Given the description of an element on the screen output the (x, y) to click on. 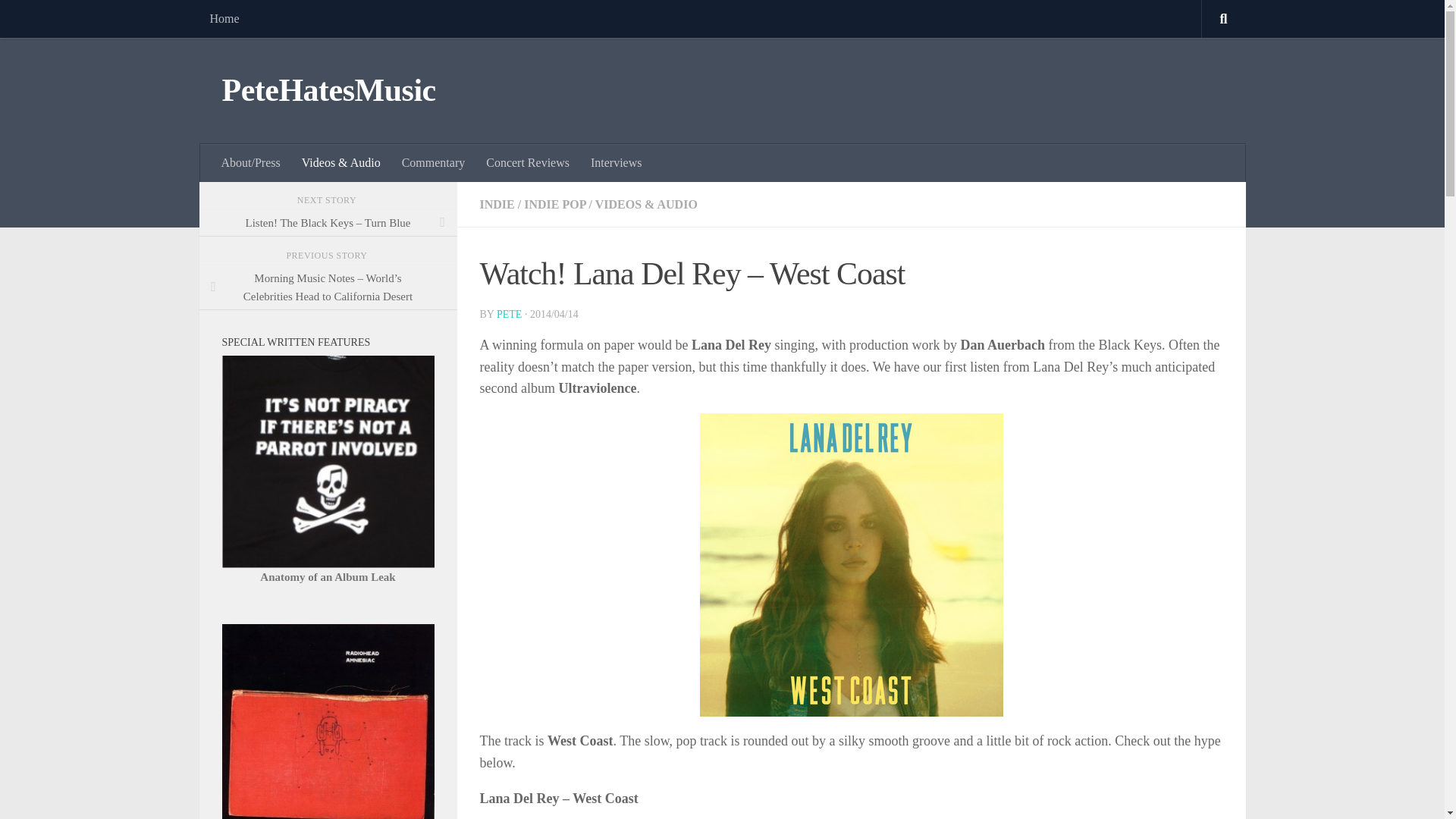
Concert Reviews (527, 162)
Skip to content (59, 20)
INDIE POP (554, 204)
PETE (508, 314)
Commentary (433, 162)
Interviews (615, 162)
Anatomy of an Album Leak (327, 576)
Home (223, 18)
Posts by Pete (508, 314)
INDIE (496, 204)
